Given the description of an element on the screen output the (x, y) to click on. 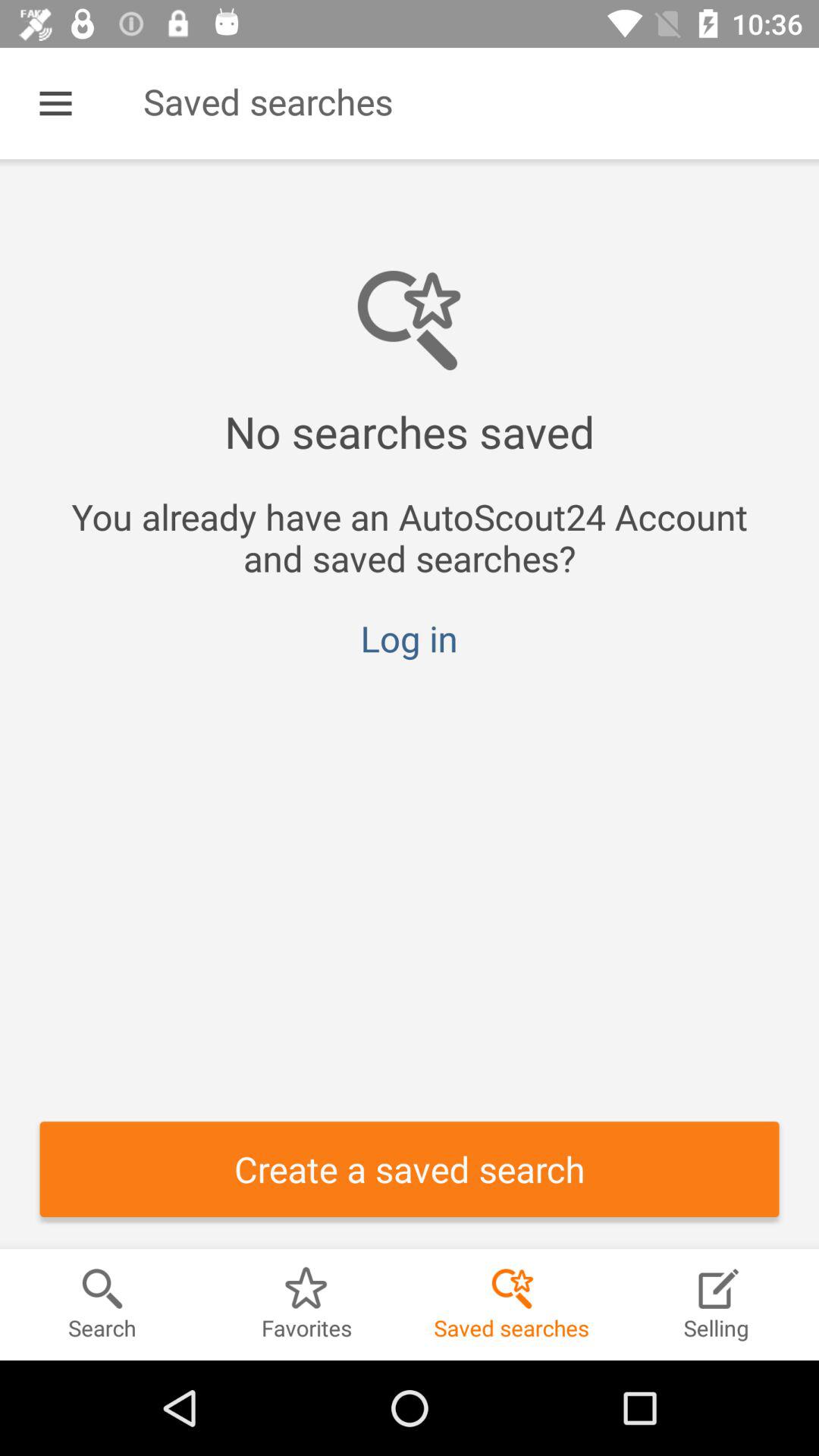
choose the create a saved item (409, 1169)
